Given the description of an element on the screen output the (x, y) to click on. 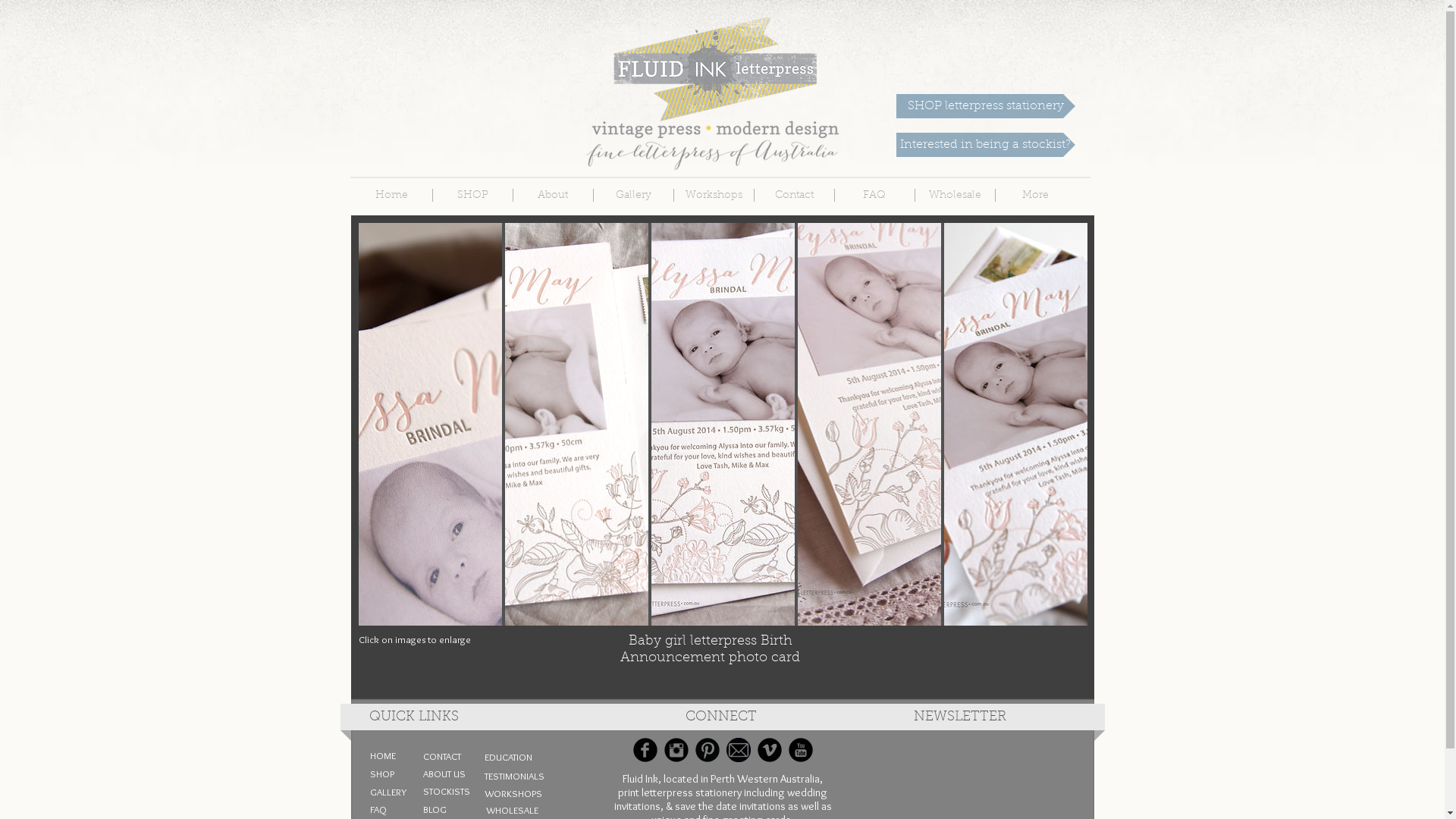
SHOP letterpress stationery Element type: text (985, 106)
Contact Element type: text (793, 194)
SHOP Element type: text (471, 194)
WORKSHOPS Element type: text (513, 792)
GALLERY Element type: text (397, 791)
Interested in being a stockist? Element type: text (985, 144)
A4logo_letterpress_mar_14.gif Element type: hover (711, 92)
STOCKISTS Element type: text (451, 791)
ABOUT US Element type: text (449, 773)
Gallery Element type: text (632, 194)
BLOG Element type: text (440, 808)
Home Element type: text (391, 194)
SHOP Element type: text (387, 773)
FAQ Element type: text (385, 808)
TESTIMONIALS Element type: text (520, 776)
CONTACT Element type: text (447, 756)
About Element type: text (552, 194)
Workshops Element type: text (713, 194)
Wholesale Element type: text (954, 194)
EDUCATION Element type: text (512, 757)
HOME Element type: text (385, 755)
WHOLESALE Element type: text (511, 809)
FAQ Element type: text (873, 194)
